Given the description of an element on the screen output the (x, y) to click on. 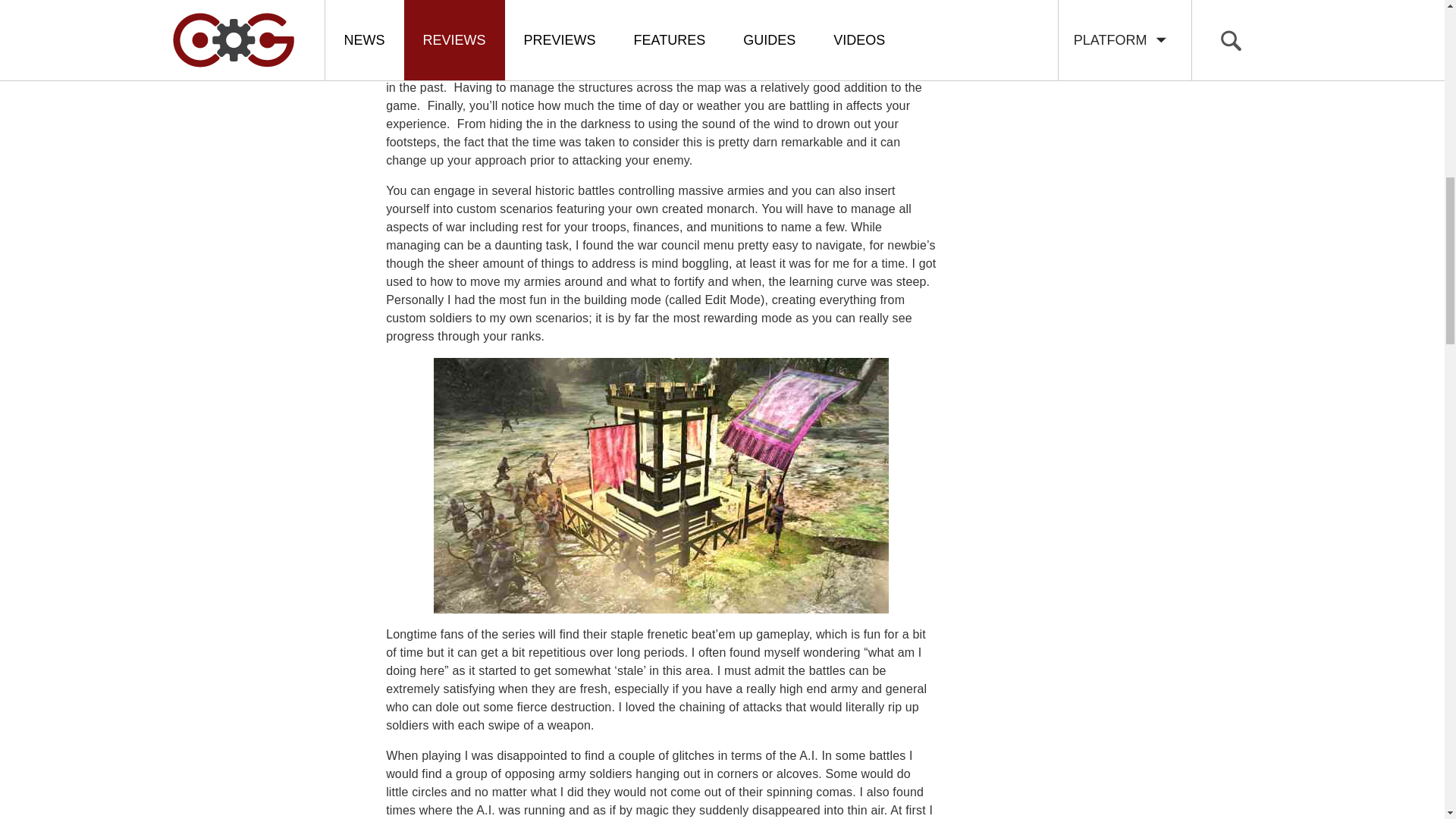
DW 8 Empires pic 8 (660, 485)
